Given the description of an element on the screen output the (x, y) to click on. 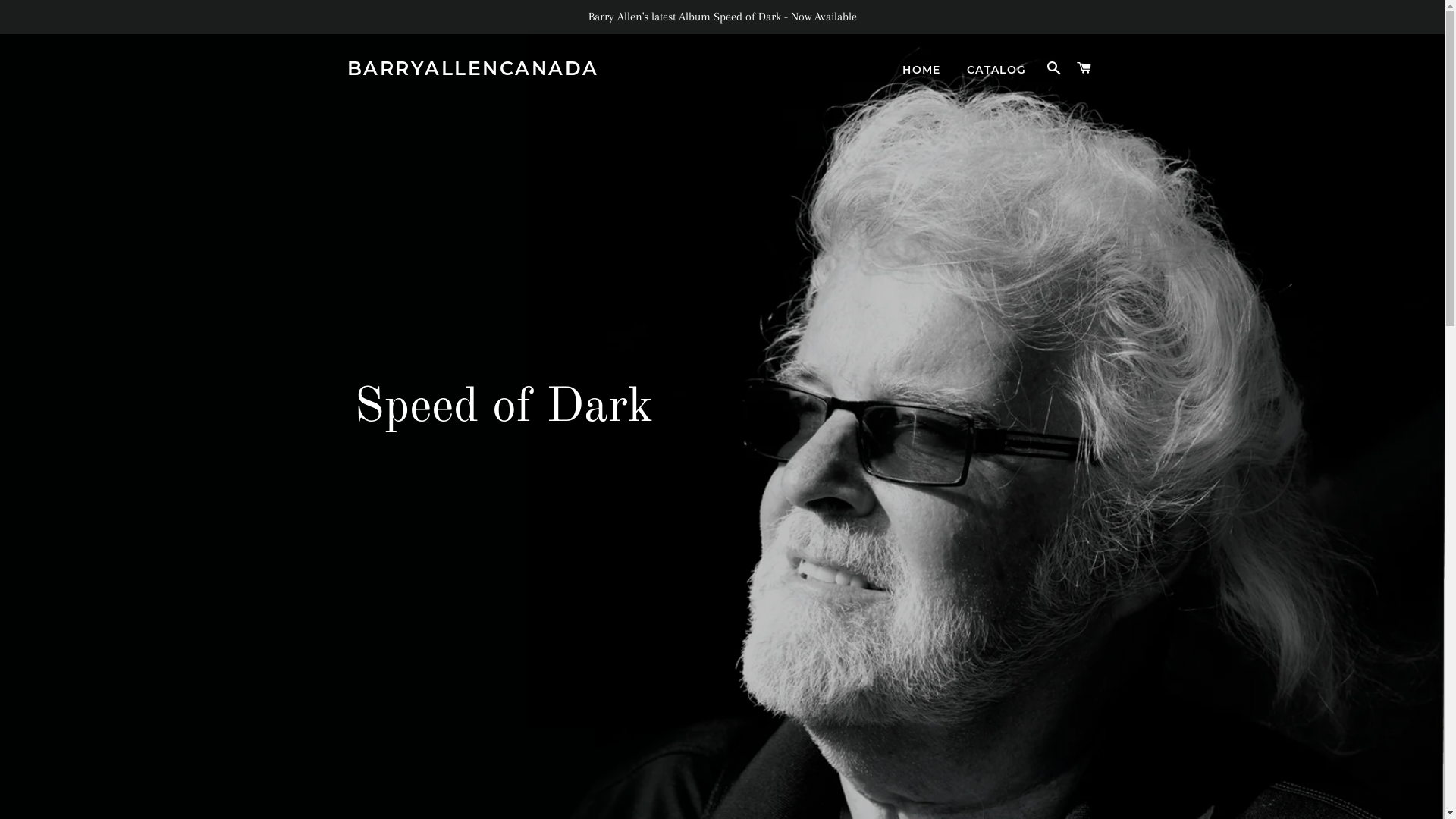
BARRYALLENCANADA Element type: text (473, 68)
SEARCH Element type: text (1054, 68)
CART Element type: text (1083, 68)
CATALOG Element type: text (996, 70)
HOME Element type: text (921, 70)
